Given the description of an element on the screen output the (x, y) to click on. 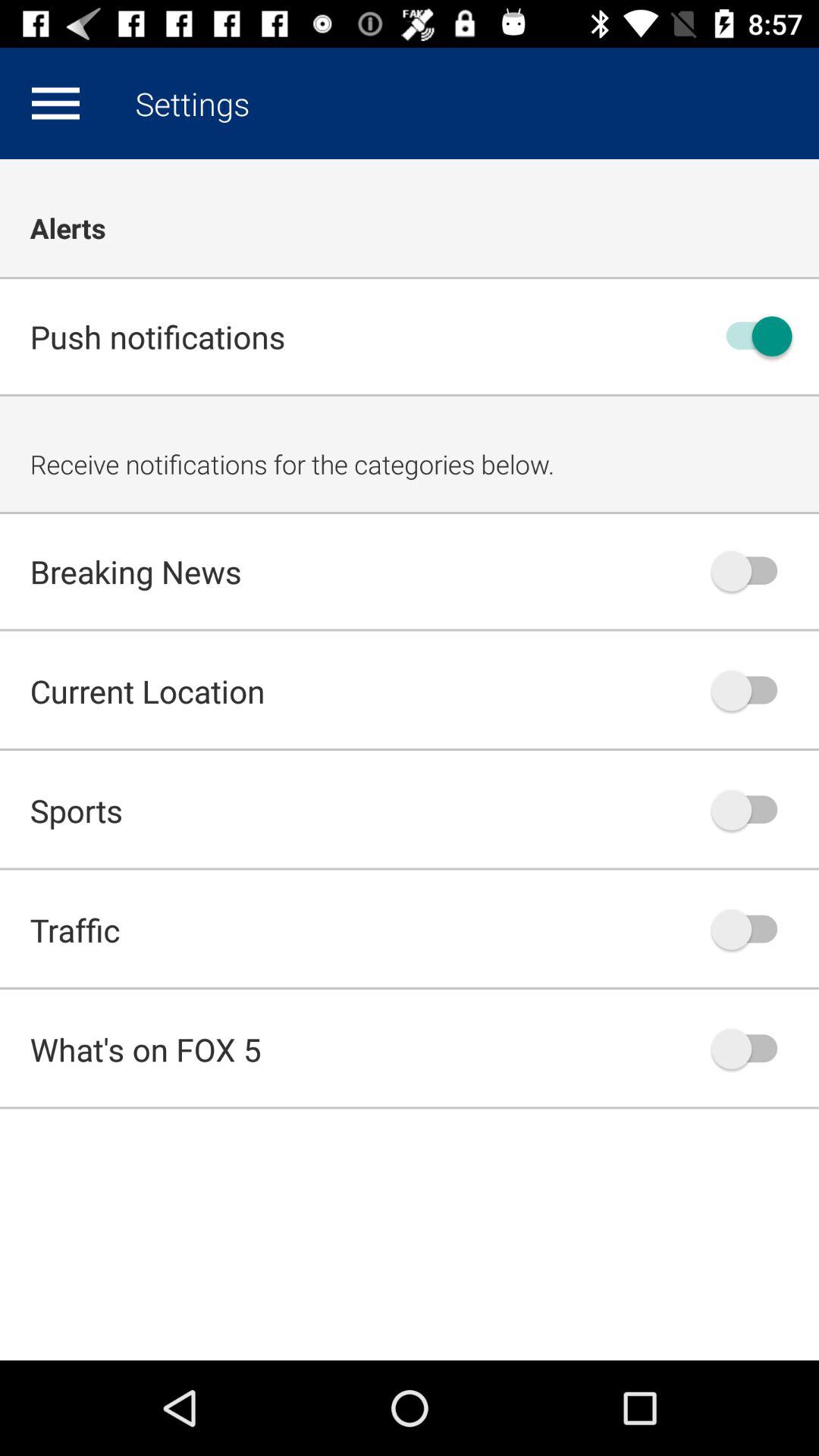
select breaking news (751, 571)
